Given the description of an element on the screen output the (x, y) to click on. 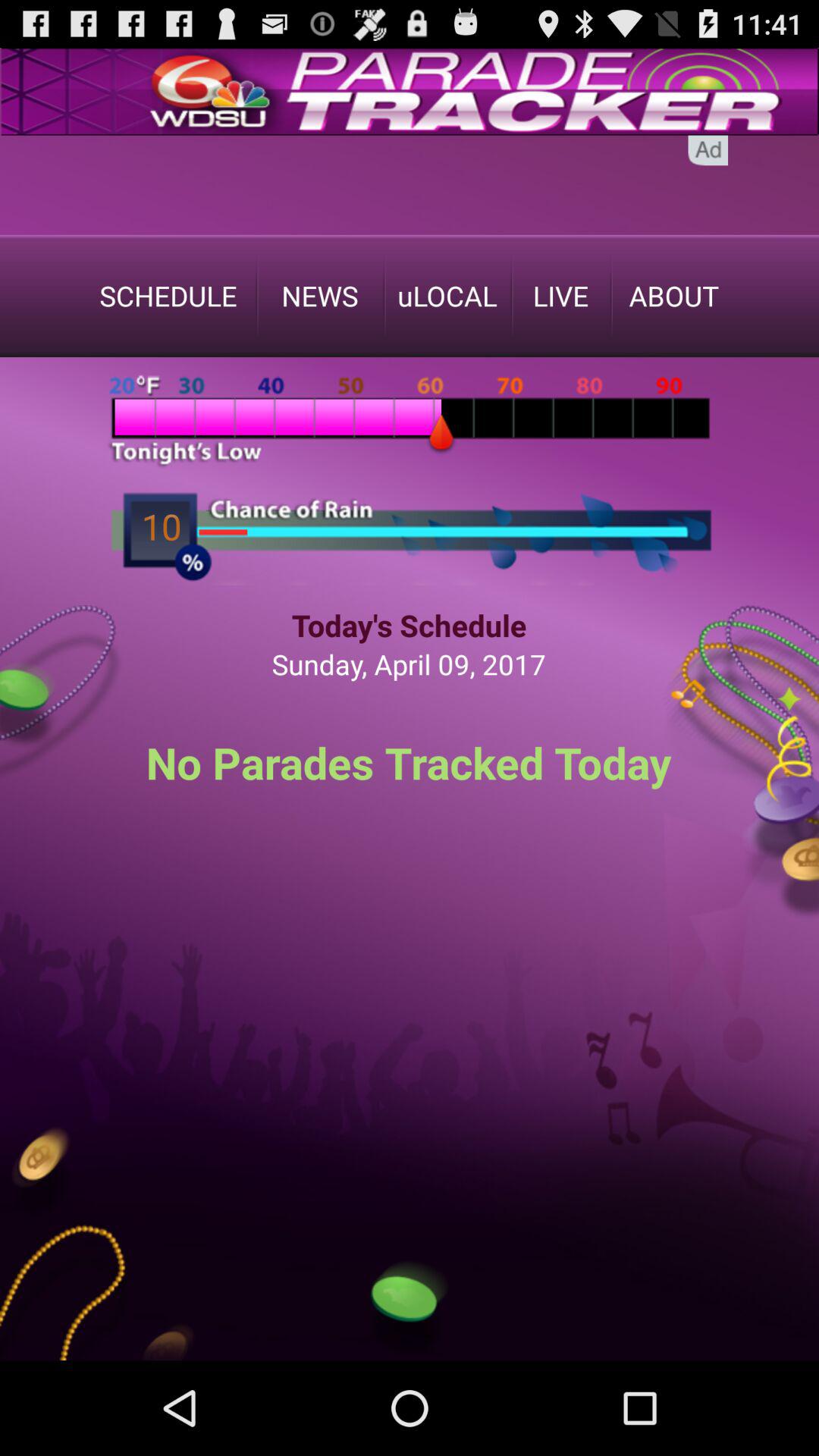
view advertisement (409, 184)
